Given the description of an element on the screen output the (x, y) to click on. 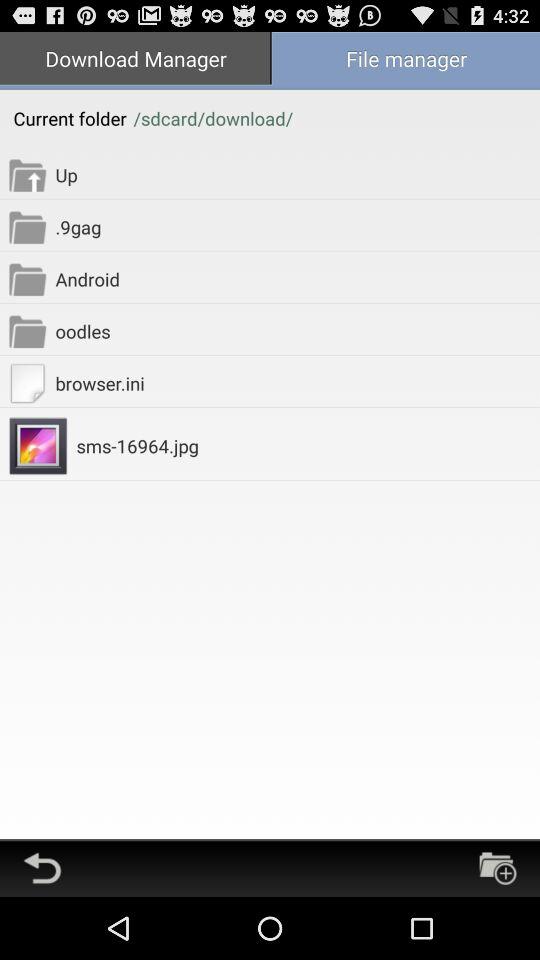
press oodles app (297, 330)
